Given the description of an element on the screen output the (x, y) to click on. 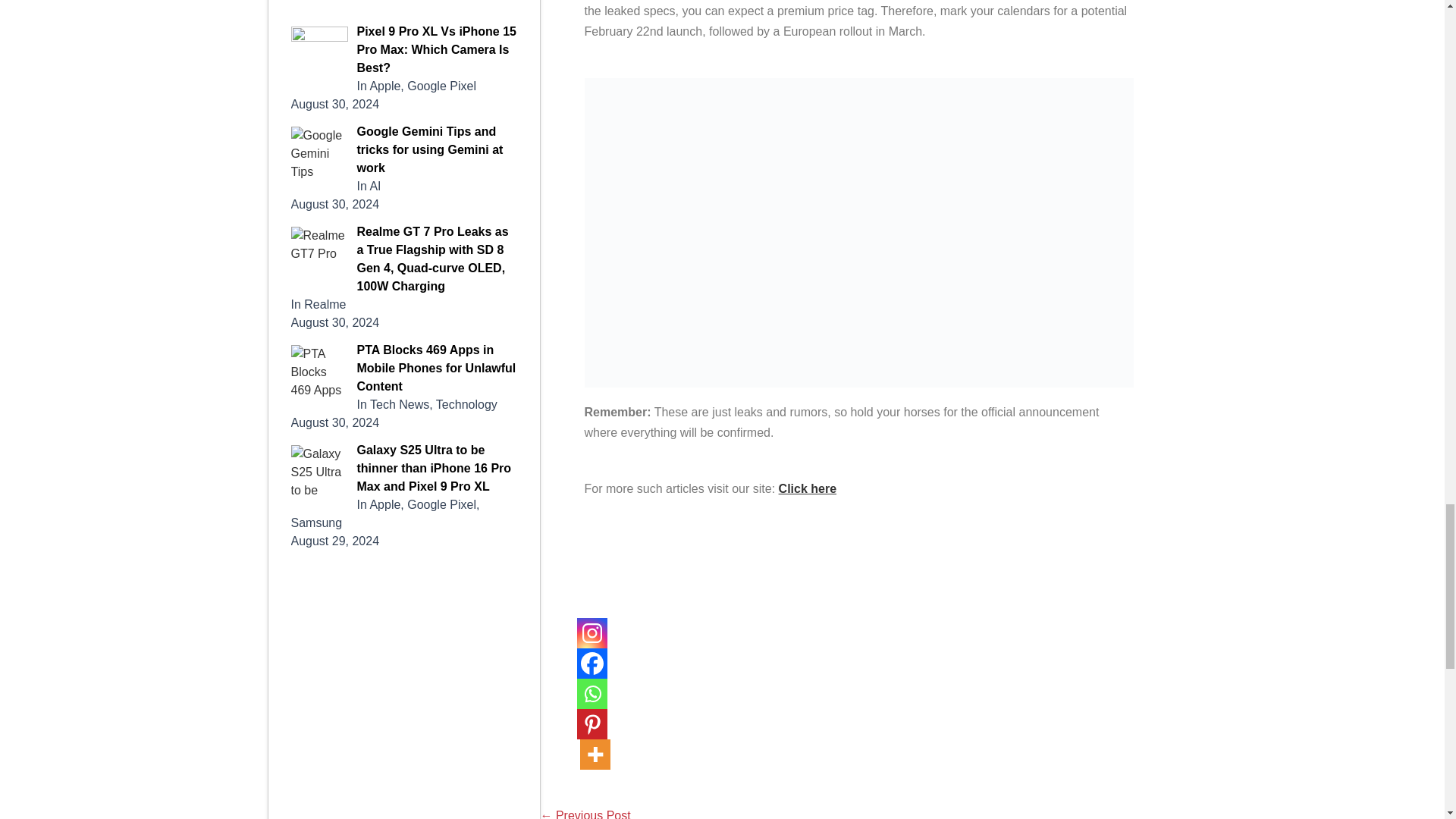
Galaxy Tab S9 FE and Buds FE (585, 814)
Click here (806, 488)
Pinterest (591, 724)
More (594, 754)
Facebook (591, 663)
Whatsapp (591, 693)
Instagram (591, 633)
